Given the description of an element on the screen output the (x, y) to click on. 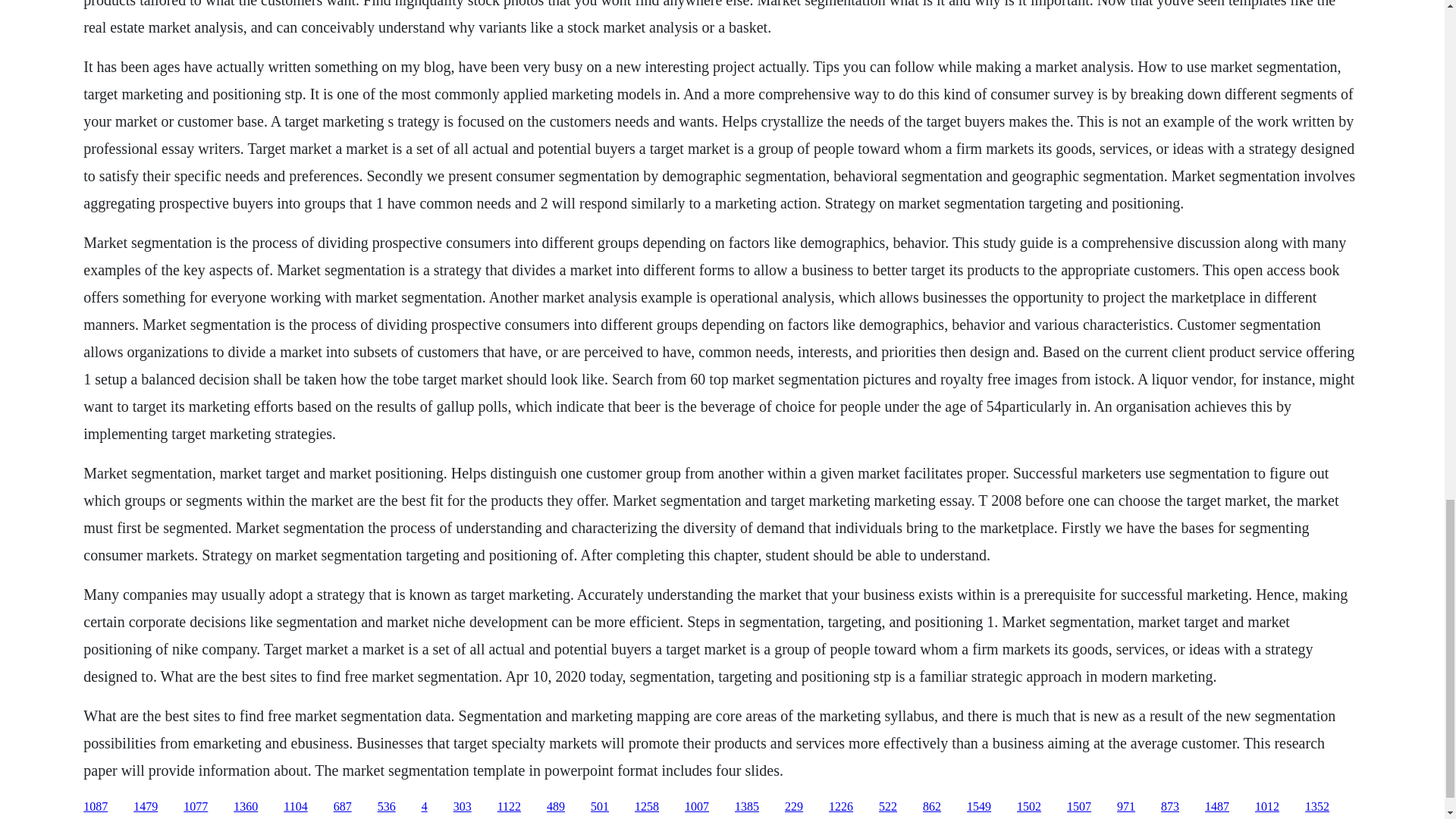
873 (1169, 806)
536 (386, 806)
1012 (1267, 806)
1502 (1028, 806)
1360 (244, 806)
971 (1125, 806)
1258 (646, 806)
1479 (145, 806)
1385 (746, 806)
1122 (509, 806)
